Given the description of an element on the screen output the (x, y) to click on. 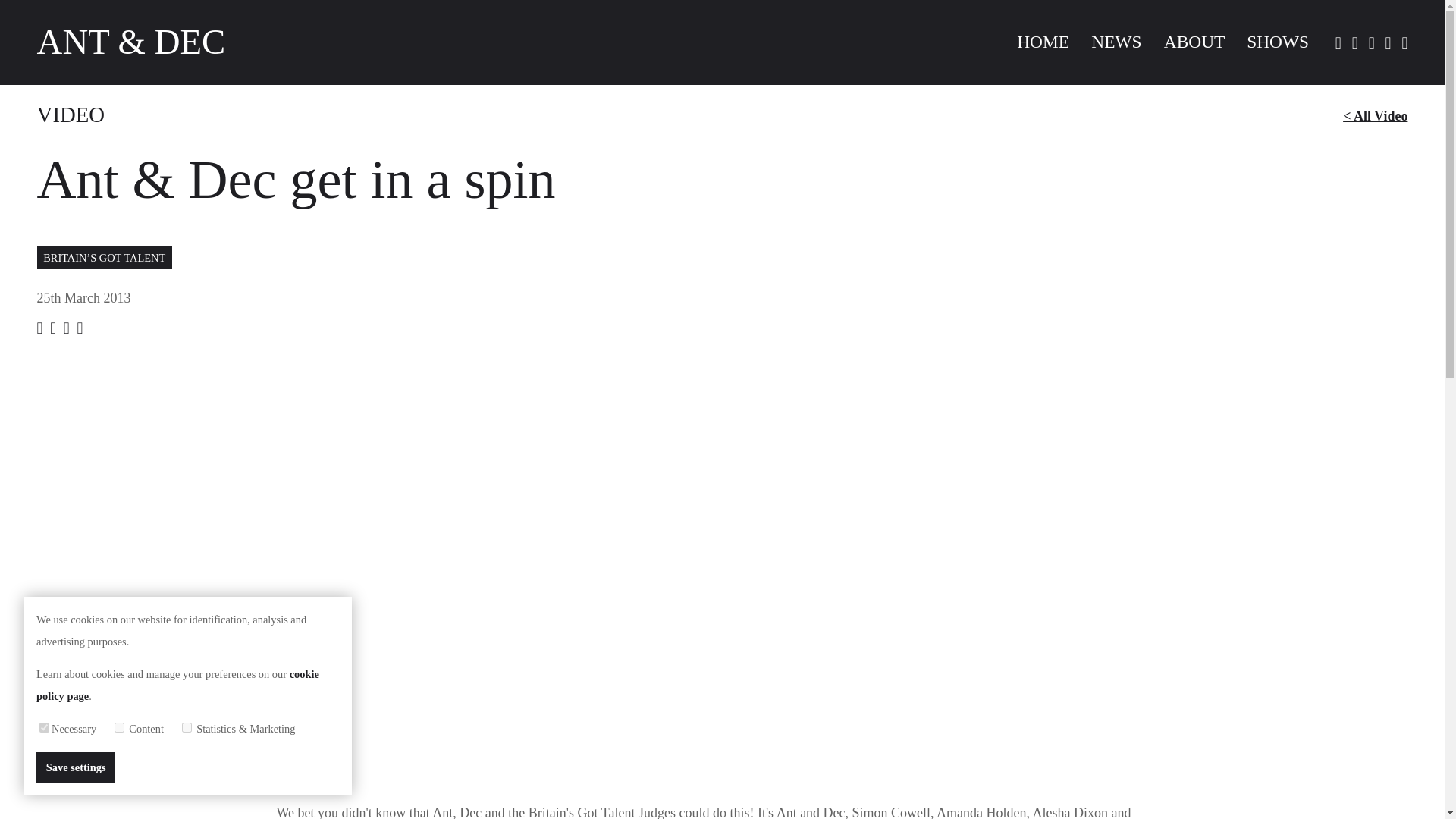
NEWS (1115, 41)
ABOUT (1193, 41)
Save settings (75, 767)
SHOWS (1277, 41)
HOME (1042, 41)
cookie policy page (177, 684)
content (119, 727)
statistics-marketing (187, 727)
on (44, 727)
